Given the description of an element on the screen output the (x, y) to click on. 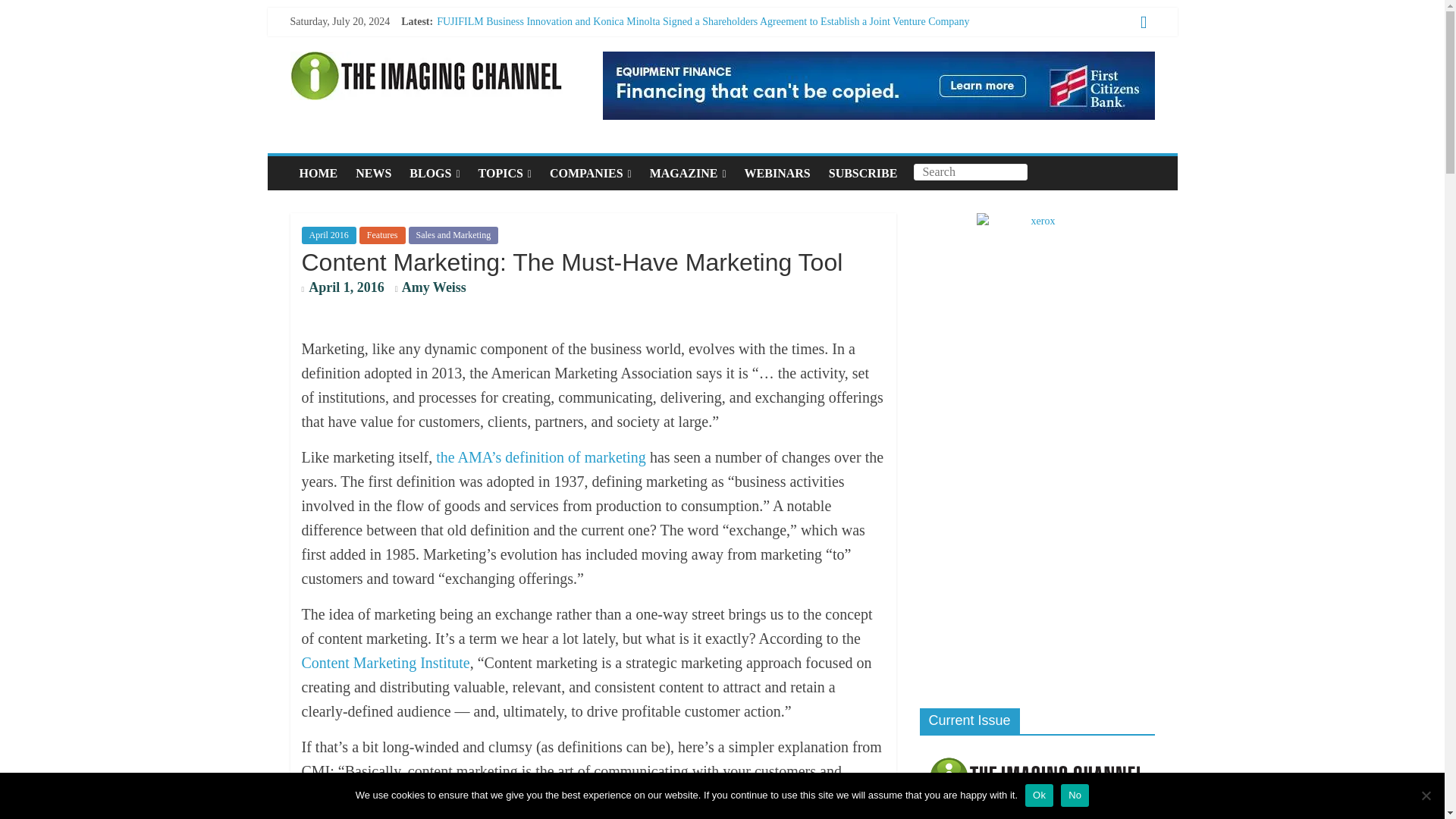
NEWS (373, 173)
COMPANIES (590, 173)
5:35 pm (342, 288)
BLOGS (434, 173)
TOPICS (504, 173)
HOME (317, 173)
Amy Weiss (433, 287)
